Given the description of an element on the screen output the (x, y) to click on. 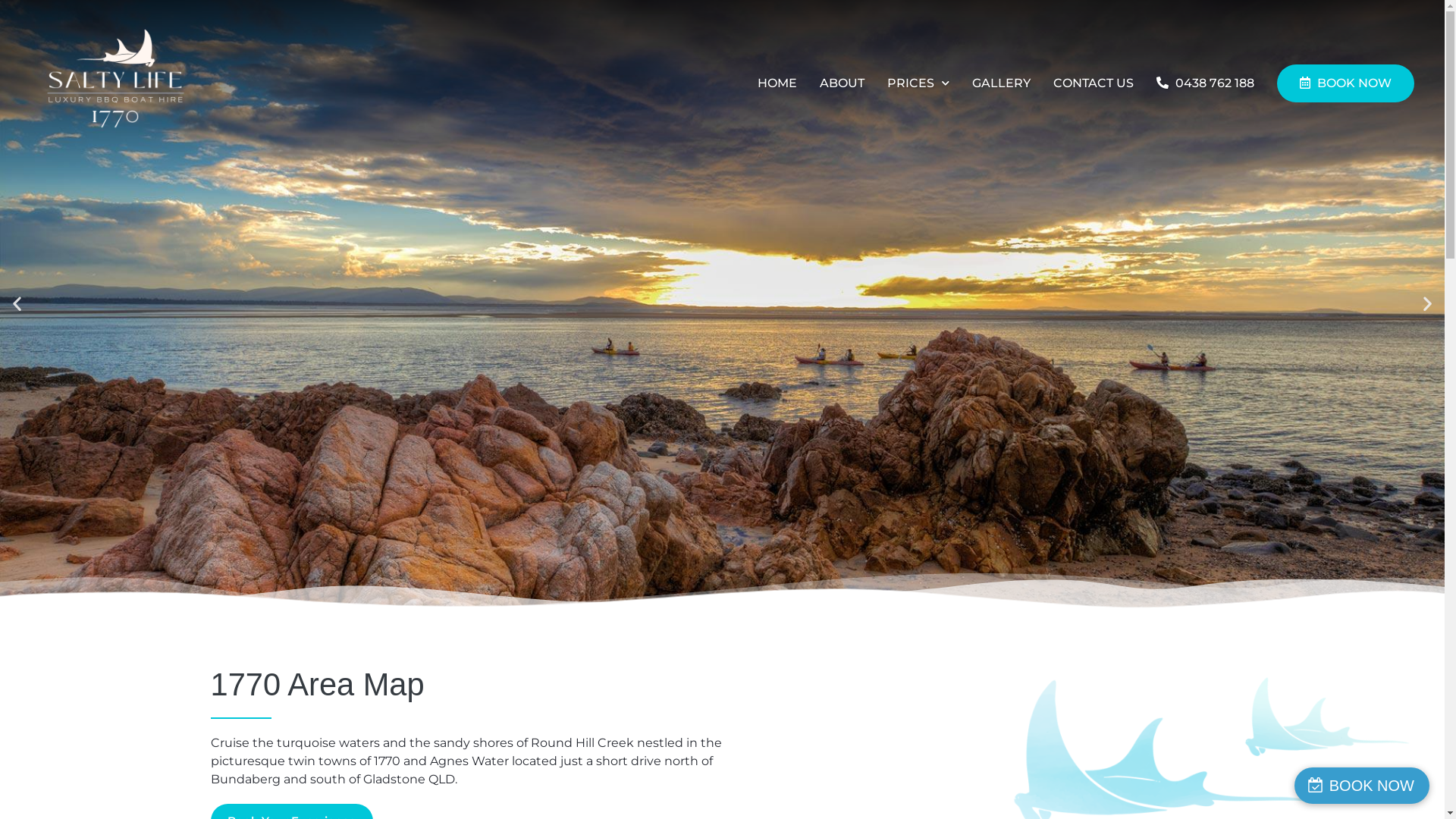
BOOK NOW Element type: text (1345, 83)
BOOK NOW Element type: text (1361, 785)
PRICES Element type: text (917, 82)
HOME Element type: text (777, 82)
GALLERY Element type: text (1000, 82)
0438 762 188 Element type: text (1205, 82)
ABOUT Element type: text (841, 82)
CONTACT US Element type: text (1093, 82)
